Given the description of an element on the screen output the (x, y) to click on. 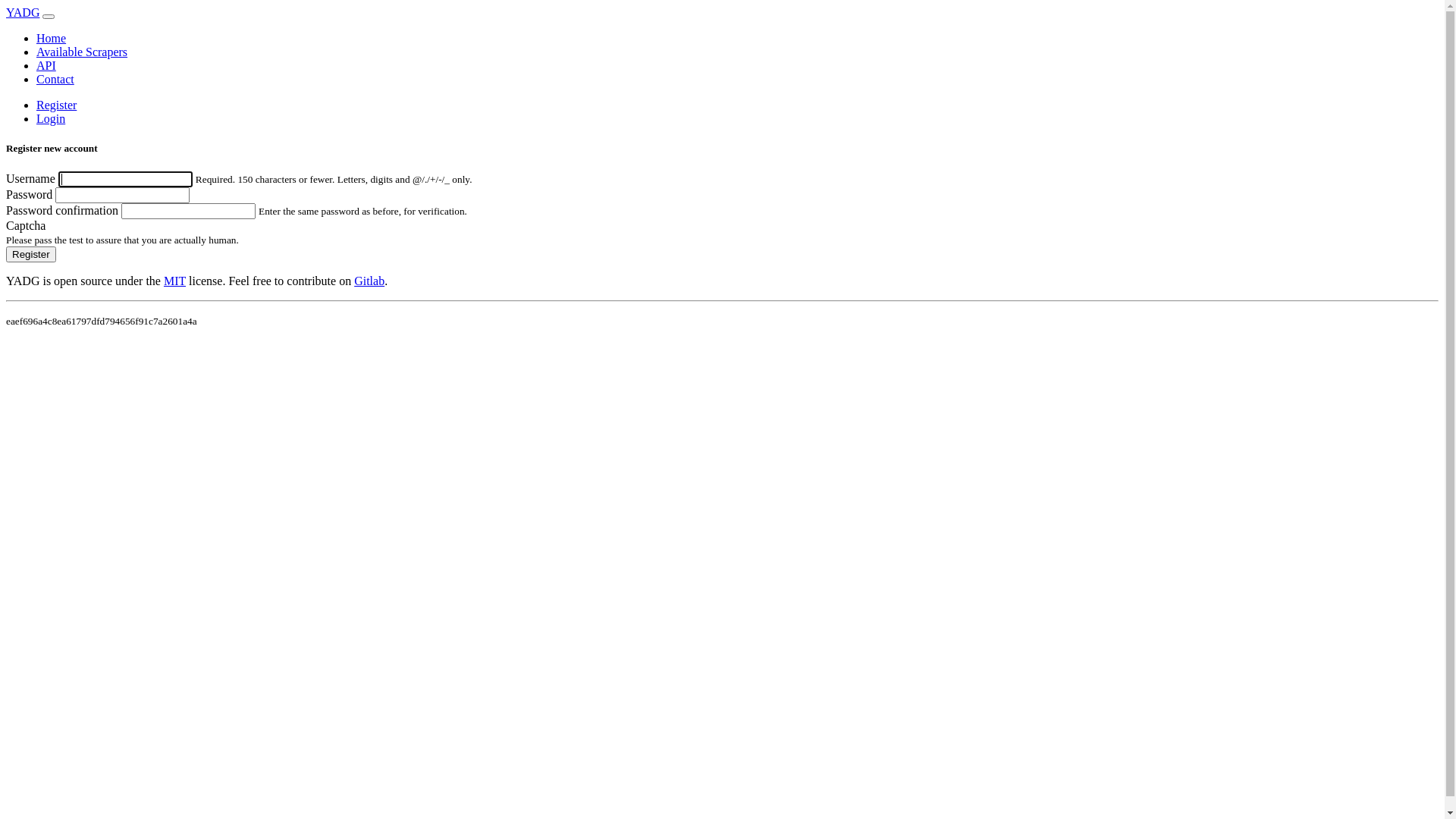
Login Element type: text (50, 118)
Gitlab Element type: text (369, 280)
Register Element type: text (31, 254)
Available Scrapers Element type: text (81, 51)
YADG Element type: text (22, 12)
API Element type: text (46, 65)
Register Element type: text (56, 104)
Contact Element type: text (55, 78)
Home Element type: text (50, 37)
MIT Element type: text (174, 280)
